Given the description of an element on the screen output the (x, y) to click on. 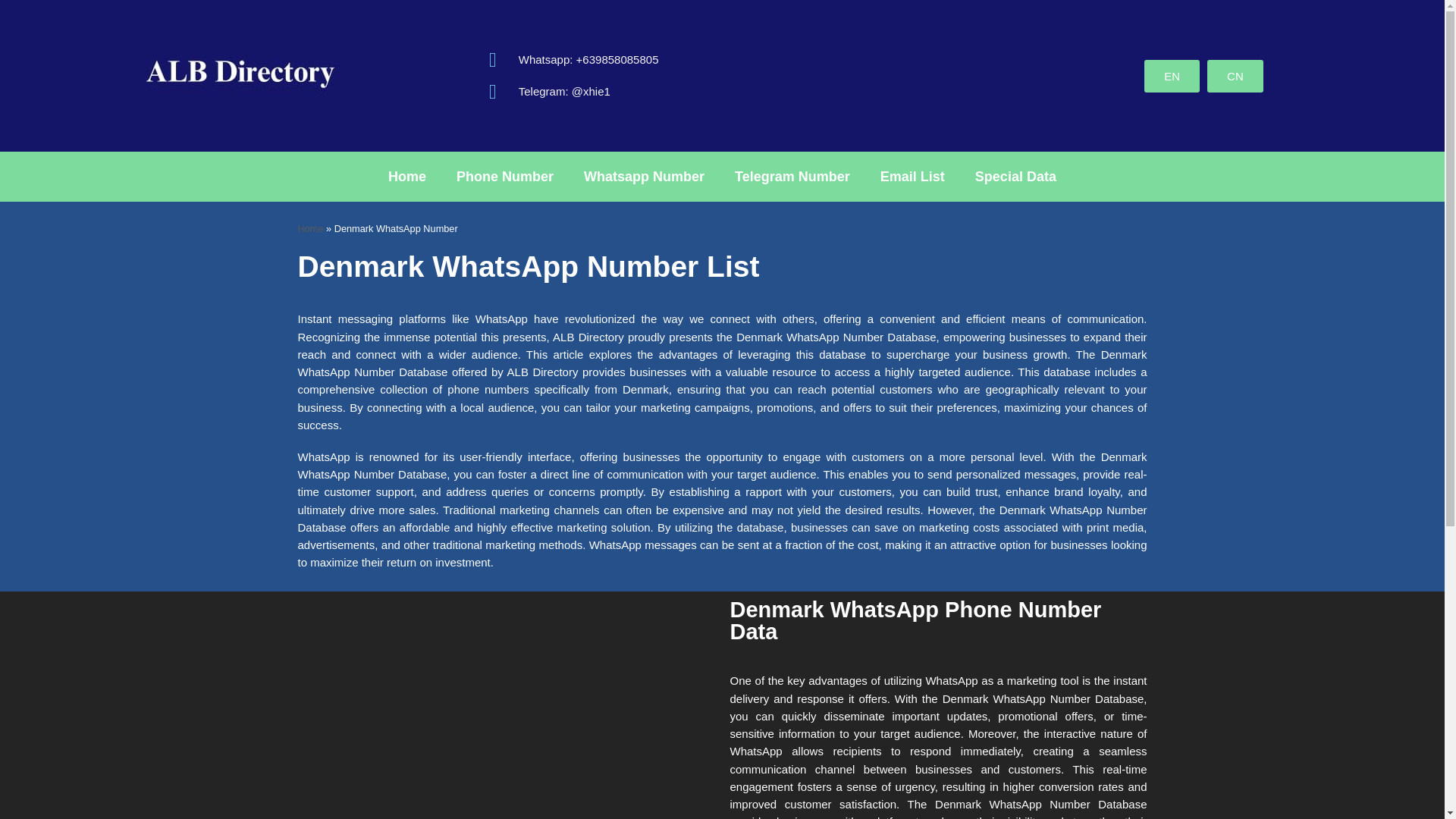
CN (1235, 74)
EN (1171, 74)
Special Data (1015, 176)
Telegram Number (791, 176)
Phone Number (505, 176)
Home (310, 228)
Home (406, 176)
Email List (911, 176)
Whatsapp Number (644, 176)
